Given the description of an element on the screen output the (x, y) to click on. 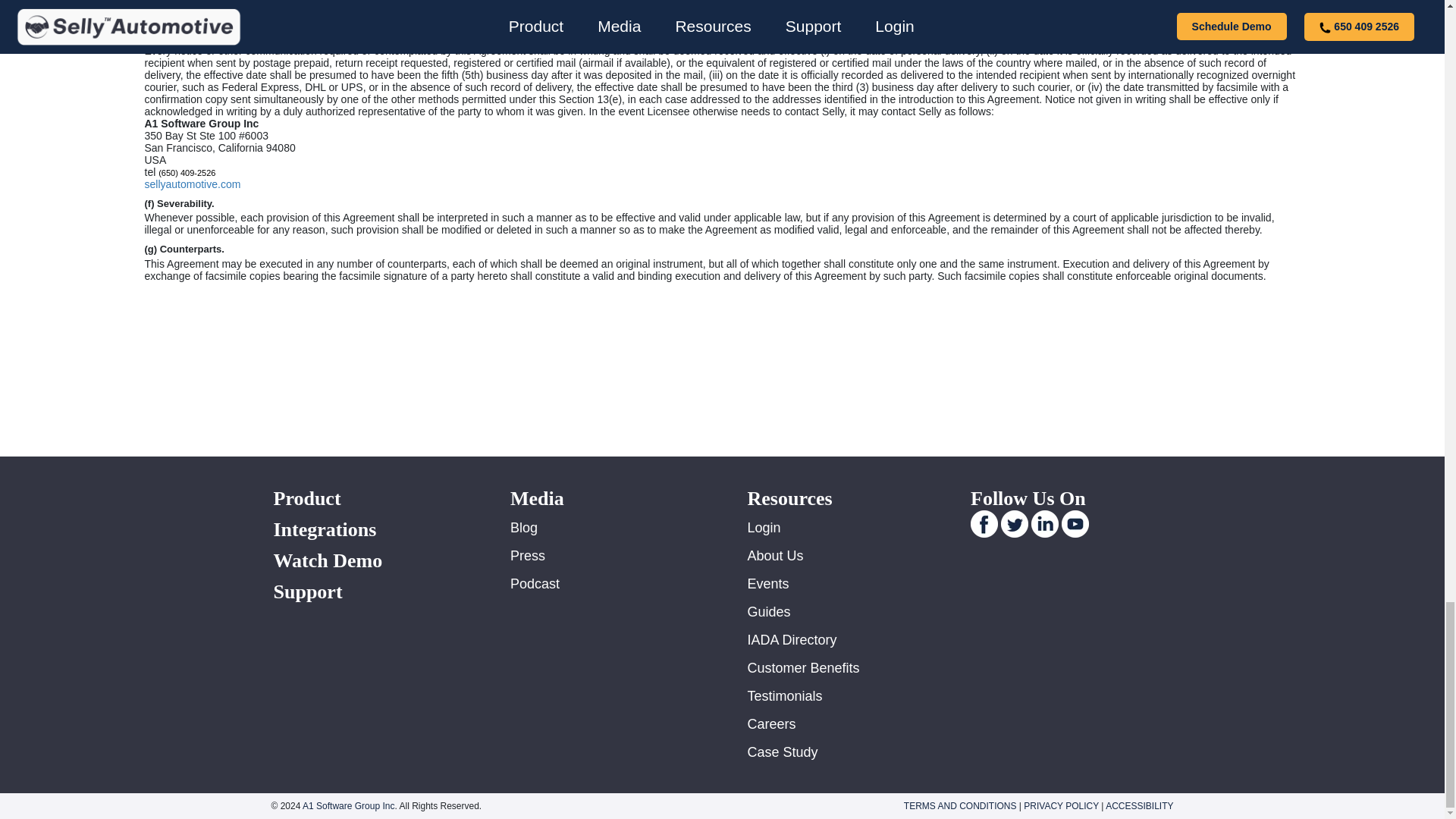
Careers (772, 724)
Events (768, 583)
Watch Demo (373, 560)
Blog (524, 527)
Podcast (535, 583)
Case Study (783, 752)
About Us (775, 555)
Product (373, 498)
Login (764, 527)
Integrations (373, 529)
